Given the description of an element on the screen output the (x, y) to click on. 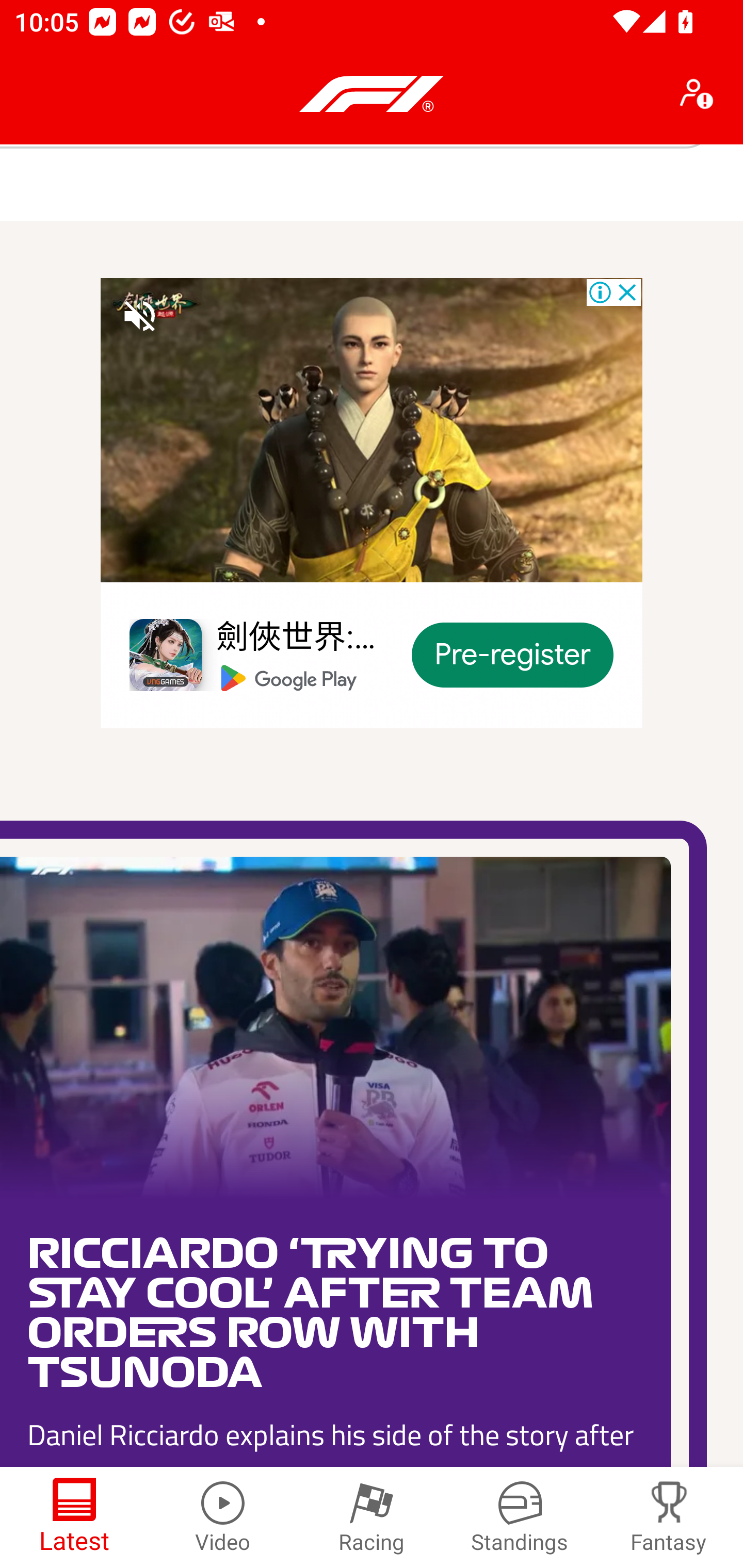
Pre-register (512, 654)
Video (222, 1517)
Racing (371, 1517)
Standings (519, 1517)
Fantasy (668, 1517)
